Given the description of an element on the screen output the (x, y) to click on. 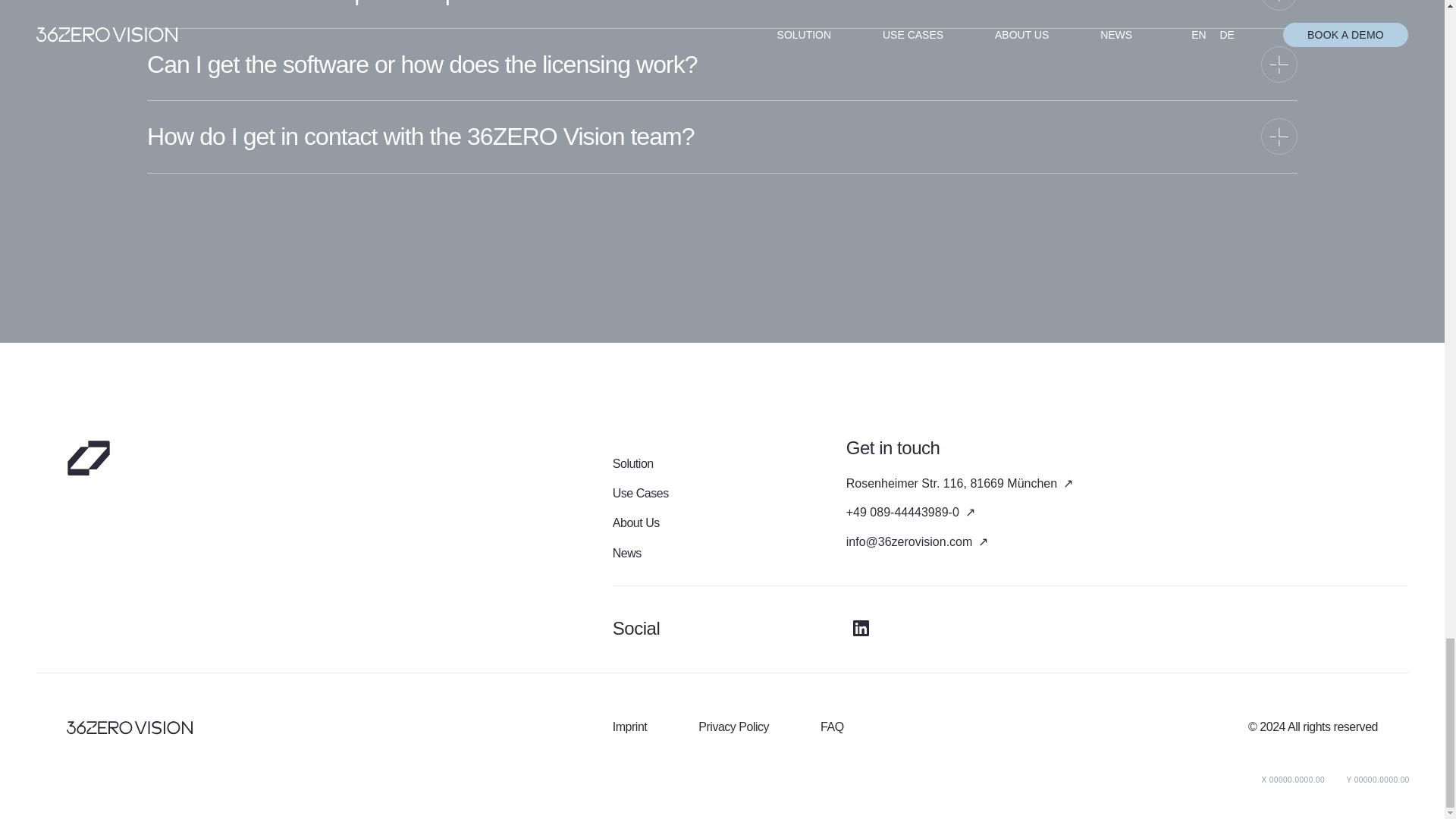
Imprint (629, 726)
Use Cases (640, 492)
Privacy Policy (733, 726)
FAQ (832, 726)
Solution (632, 463)
LinkedIn (860, 628)
News (627, 553)
About Us (635, 522)
